Given the description of an element on the screen output the (x, y) to click on. 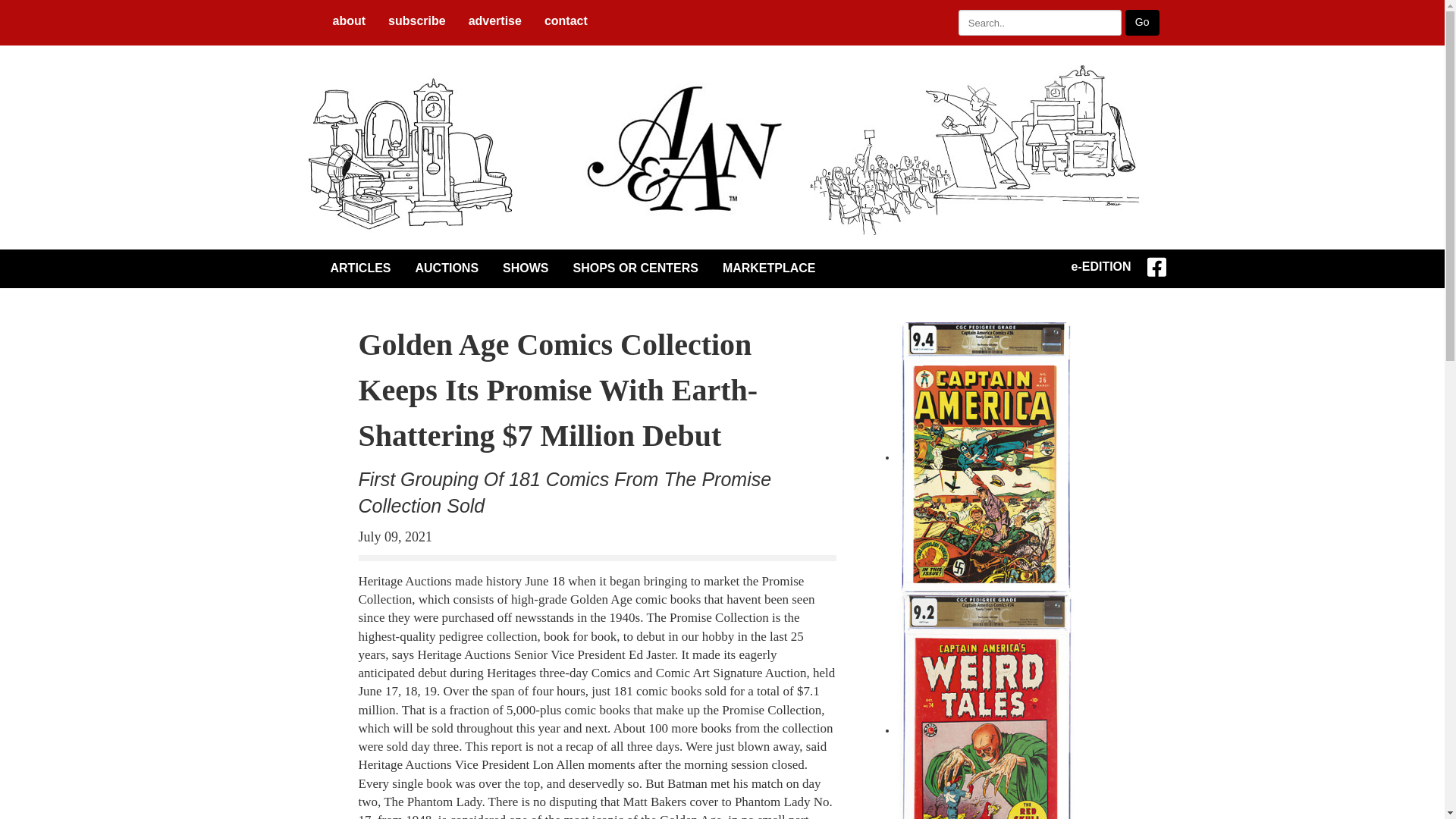
auctions (444, 268)
SHOWS (522, 268)
about (349, 20)
Advertise (494, 20)
Shops or Centers (632, 268)
subscribe (417, 20)
subscribe (417, 20)
about (349, 20)
contact (565, 20)
ARTICLES (357, 268)
Shows (522, 268)
AUCTIONS (444, 268)
articles (357, 268)
SHOPS OR CENTERS (632, 268)
Marketplace (766, 268)
